Given the description of an element on the screen output the (x, y) to click on. 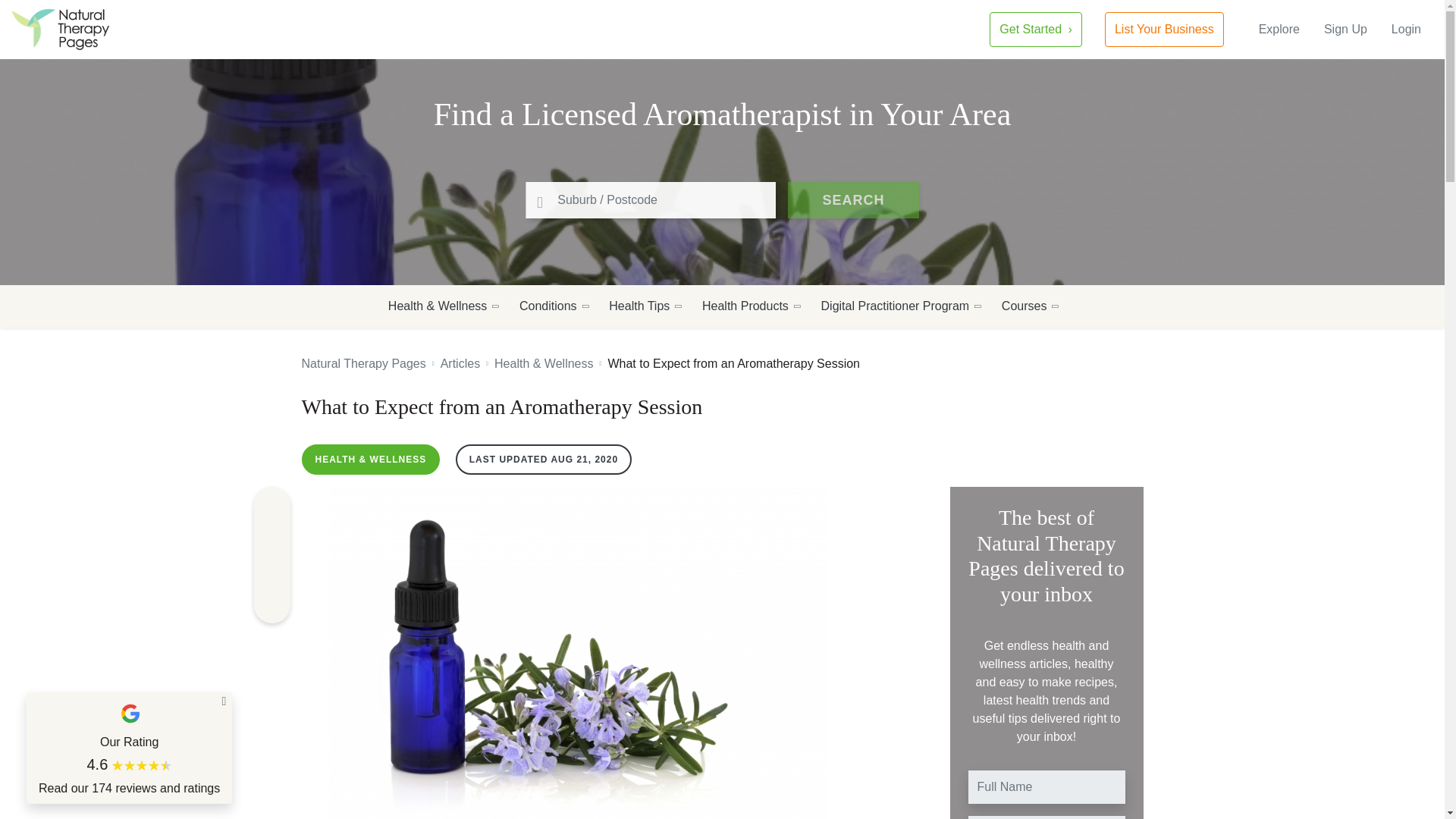
Login (1405, 29)
global.social.shareFacebook (271, 504)
Explore (1278, 29)
global.social.shareTwitter (271, 571)
global.social.shareEmail (271, 604)
global.social.sharePinterest (271, 538)
Sign Up (1344, 29)
List Your Business (1164, 28)
